Given the description of an element on the screen output the (x, y) to click on. 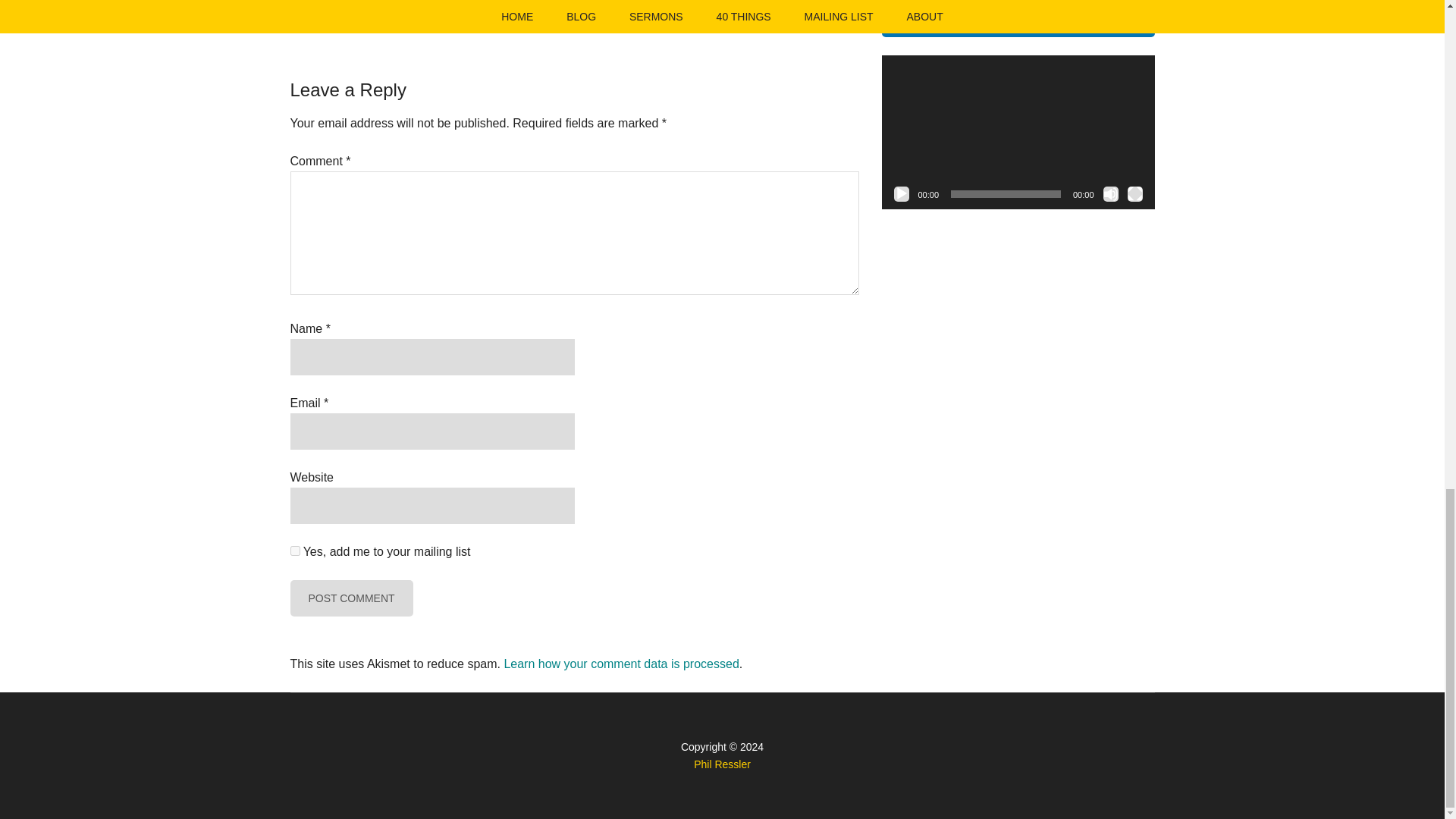
Post Comment (350, 597)
1 (294, 551)
Fullscreen (1133, 193)
Mute (1110, 193)
Devotions (373, 7)
Post Comment (350, 597)
Learn how your comment data is processed (620, 663)
Play (900, 193)
